Given the description of an element on the screen output the (x, y) to click on. 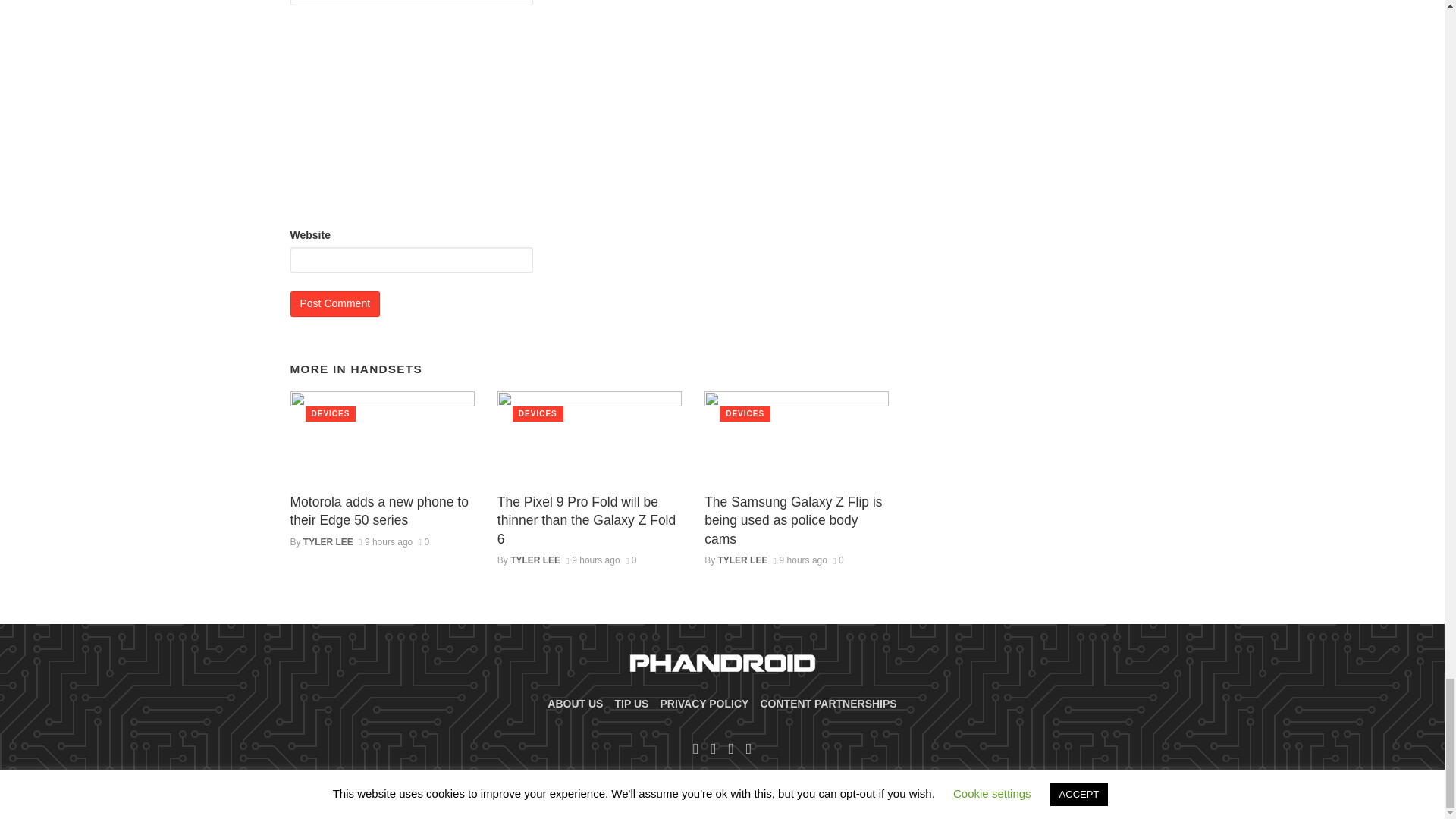
Post Comment (334, 303)
